Given the description of an element on the screen output the (x, y) to click on. 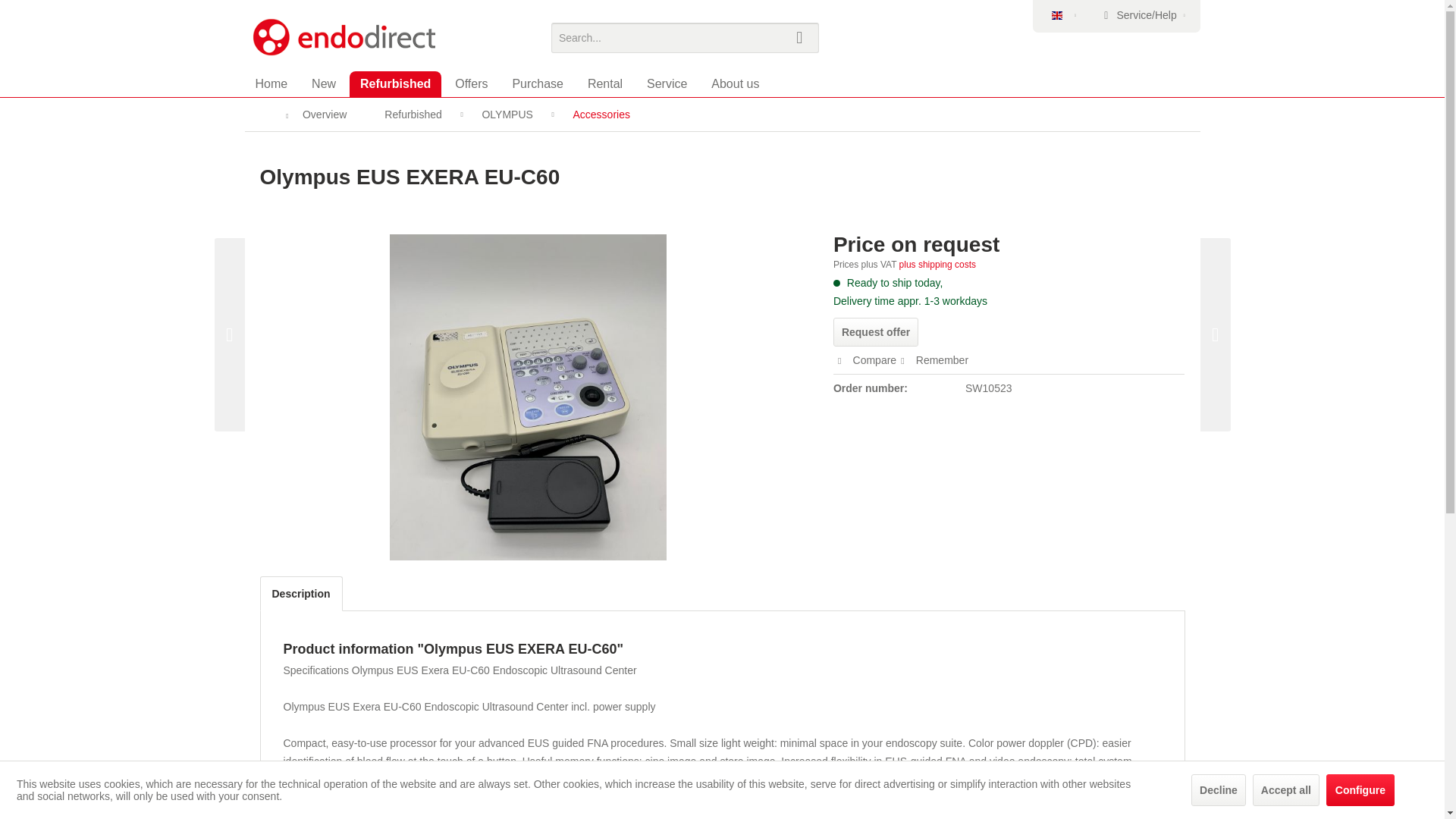
Refurbished (395, 84)
Offers (470, 84)
About us (735, 84)
Refurbished (395, 84)
About us (735, 84)
About us (735, 84)
Home (271, 84)
Offers (470, 84)
Service (666, 84)
Rental (604, 84)
Purchase (536, 84)
Service (666, 84)
Home (271, 84)
Refurbished (395, 84)
Purchase (536, 84)
